Given the description of an element on the screen output the (x, y) to click on. 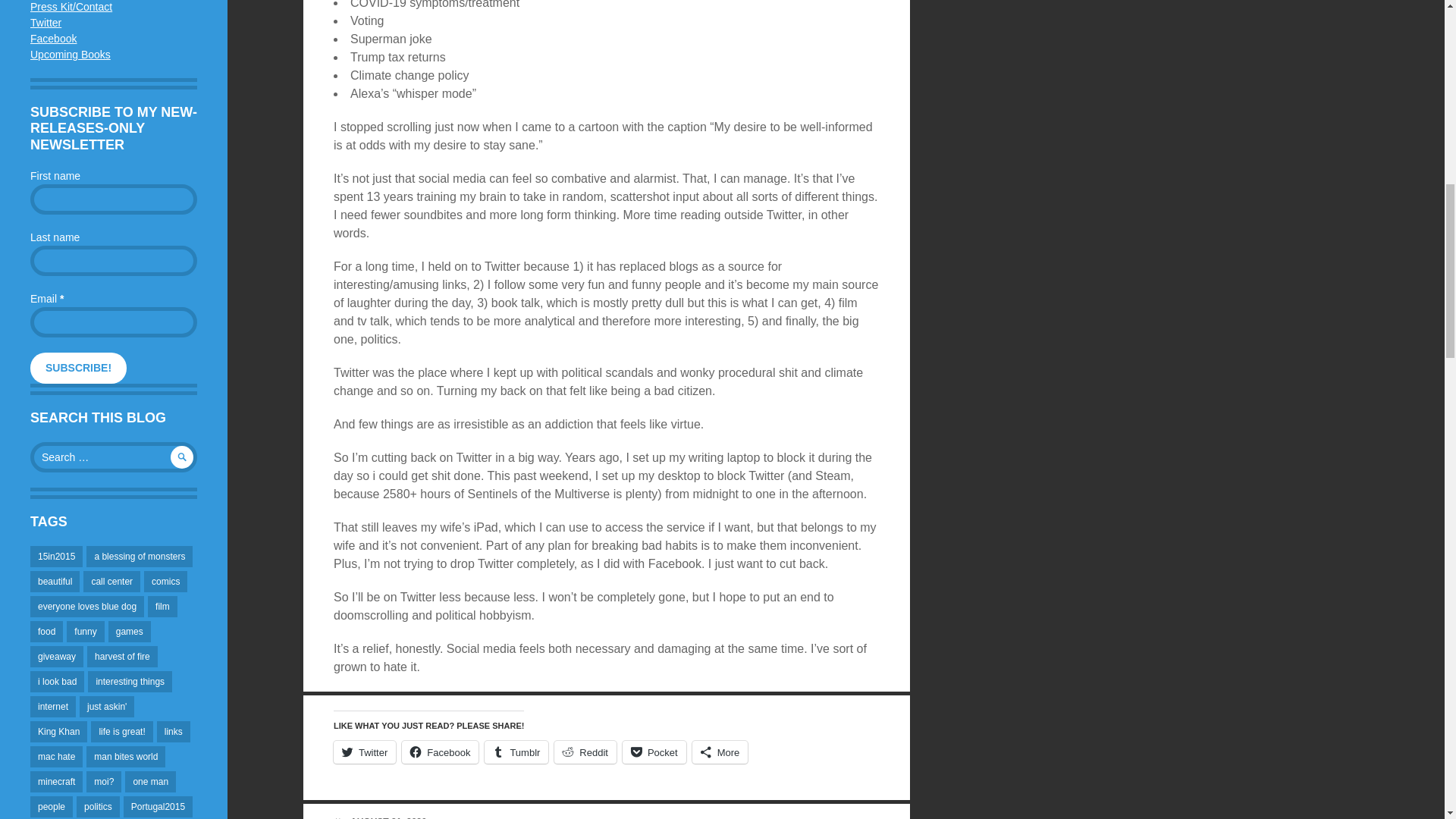
film (162, 606)
minecraft (56, 781)
Subscribe! (78, 368)
just askin' (106, 706)
one man (150, 781)
links (173, 731)
Twitter (45, 22)
comics (165, 581)
King Khan (58, 731)
Facebook (53, 38)
